Given the description of an element on the screen output the (x, y) to click on. 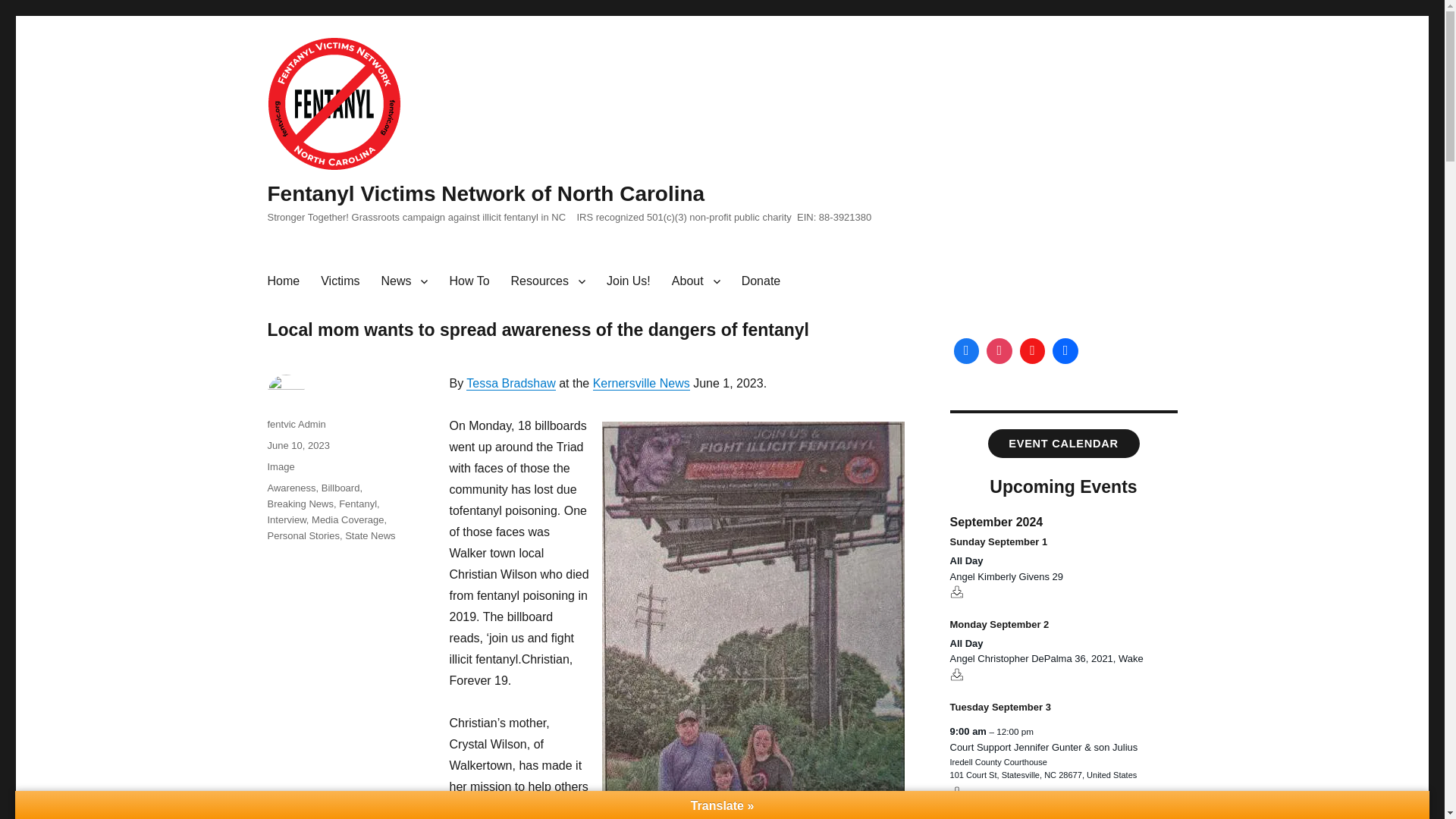
Fentanyl Victims Network of North Carolina (485, 193)
Home (283, 281)
Resources (547, 281)
News (403, 281)
Victims (339, 281)
How To (468, 281)
